Given the description of an element on the screen output the (x, y) to click on. 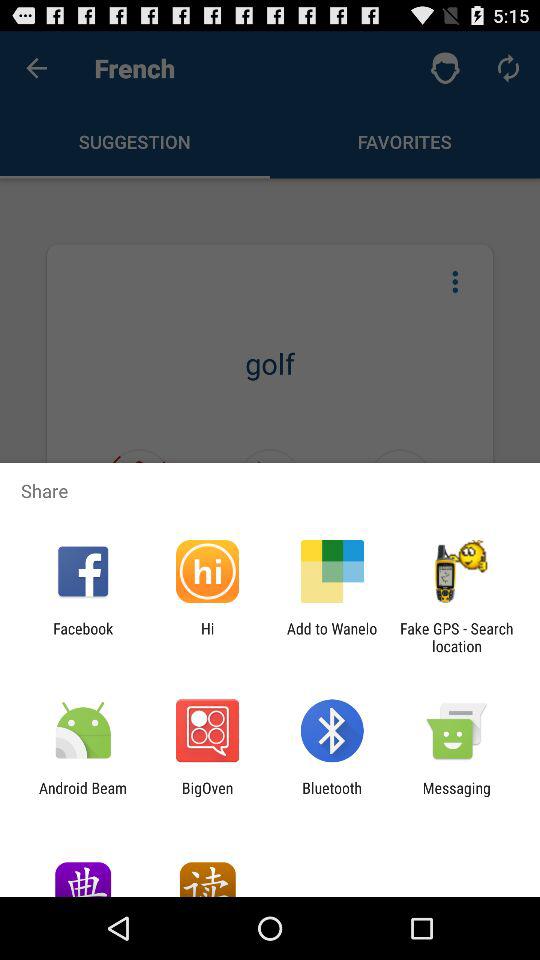
tap icon to the right of android beam item (207, 796)
